Given the description of an element on the screen output the (x, y) to click on. 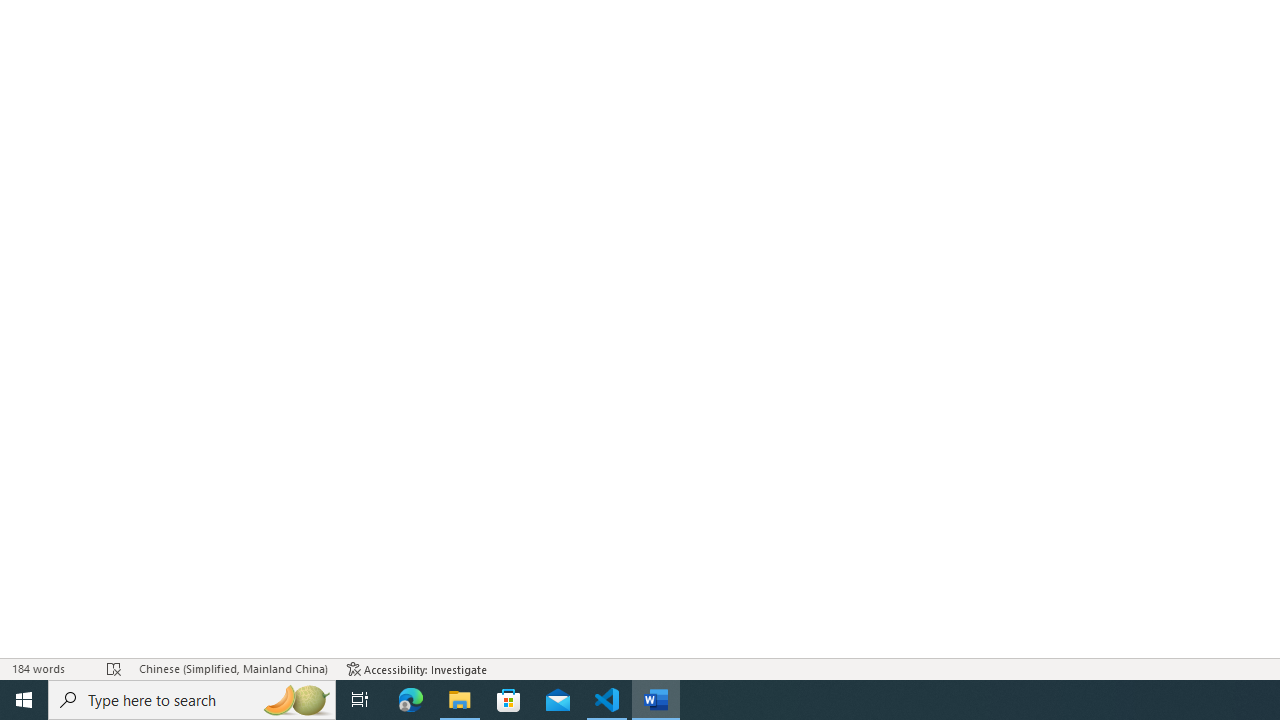
Word - 1 running window (656, 699)
Word Count 184 words (49, 668)
